Given the description of an element on the screen output the (x, y) to click on. 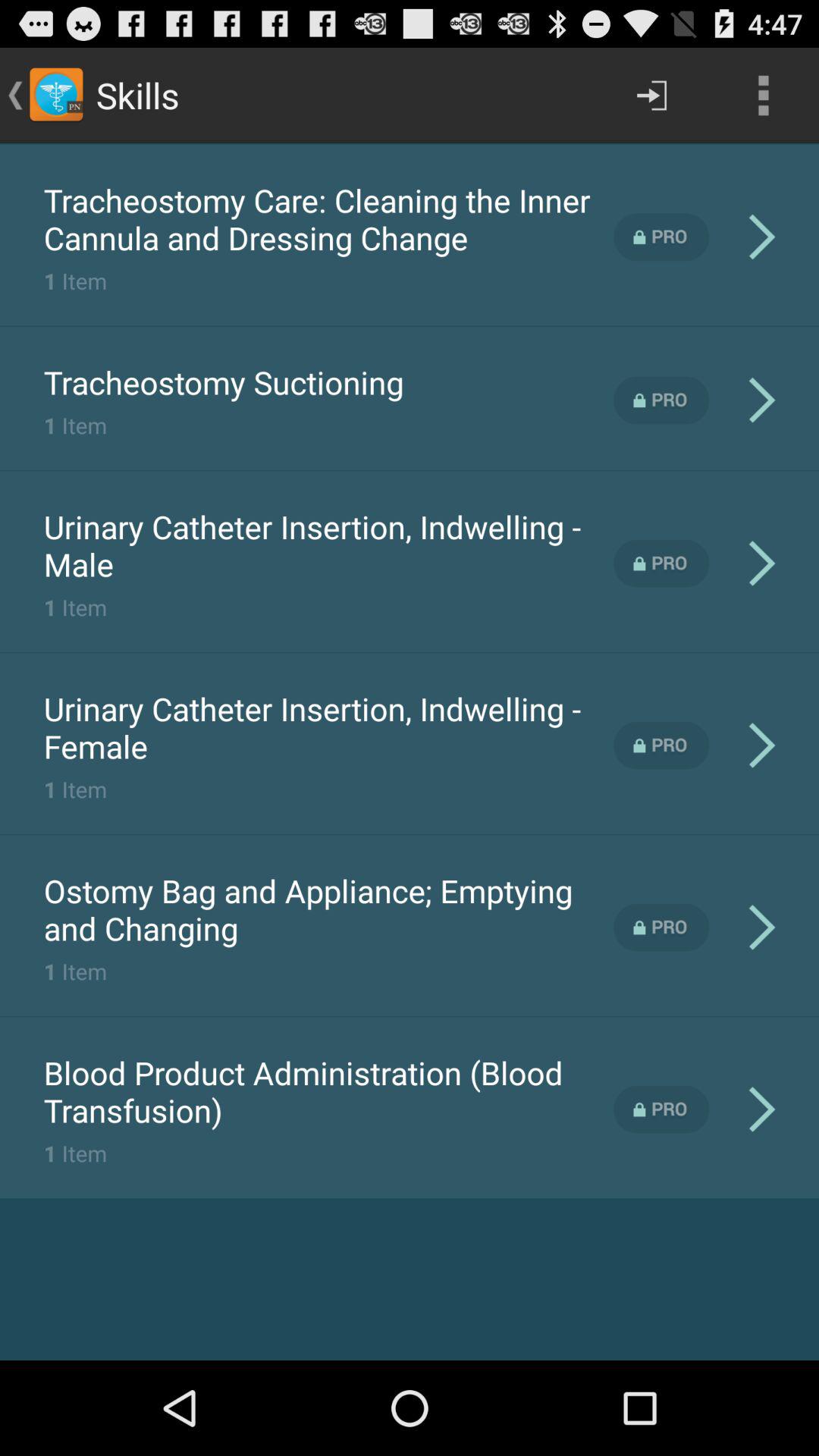
switch to pro (661, 563)
